Given the description of an element on the screen output the (x, y) to click on. 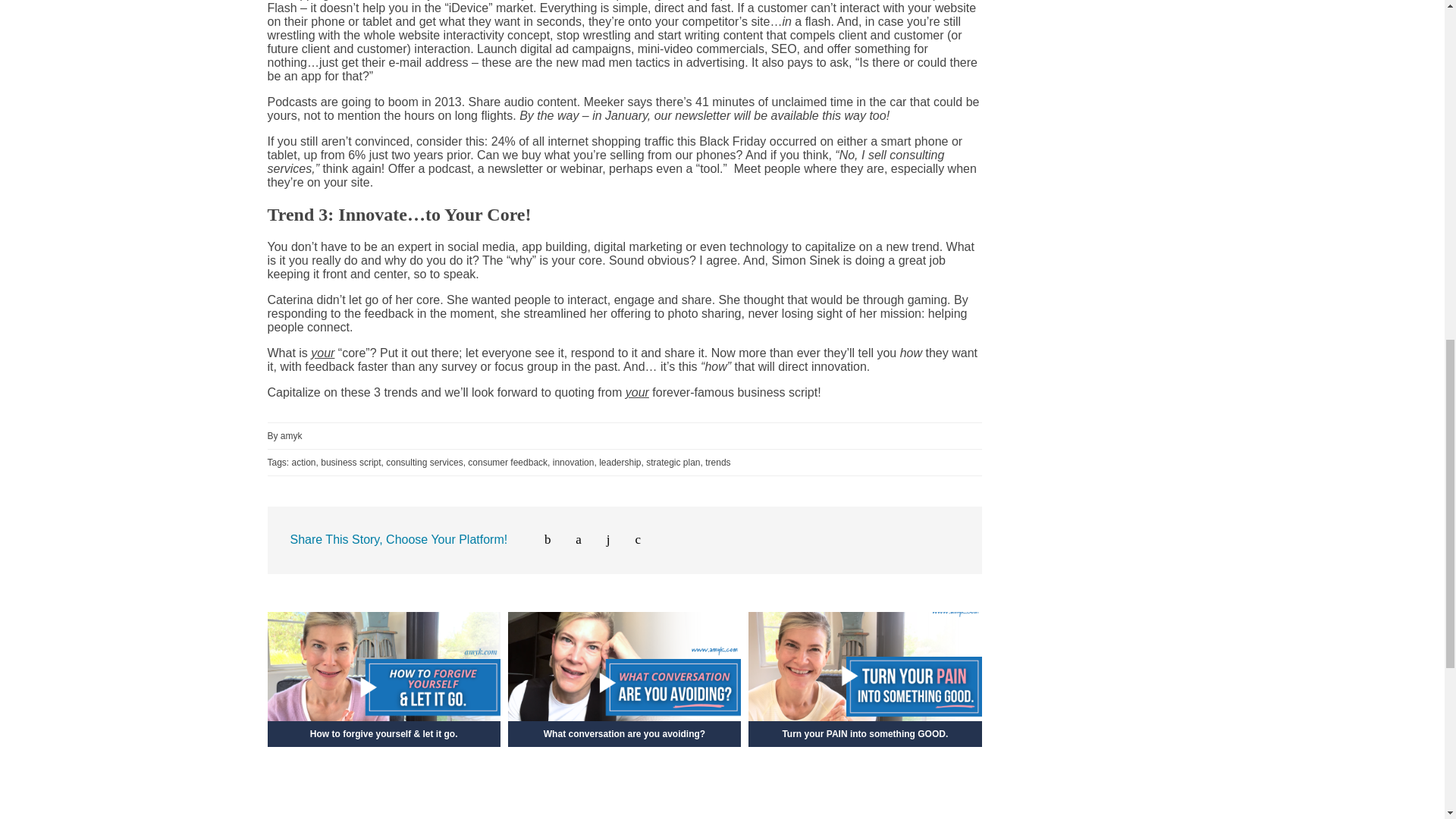
action (303, 462)
business script (350, 462)
b (539, 539)
a (571, 539)
trends (717, 462)
innovation (573, 462)
strategic plan (673, 462)
consumer feedback (507, 462)
c (629, 539)
What conversation are you avoiding? (624, 717)
